Given the description of an element on the screen output the (x, y) to click on. 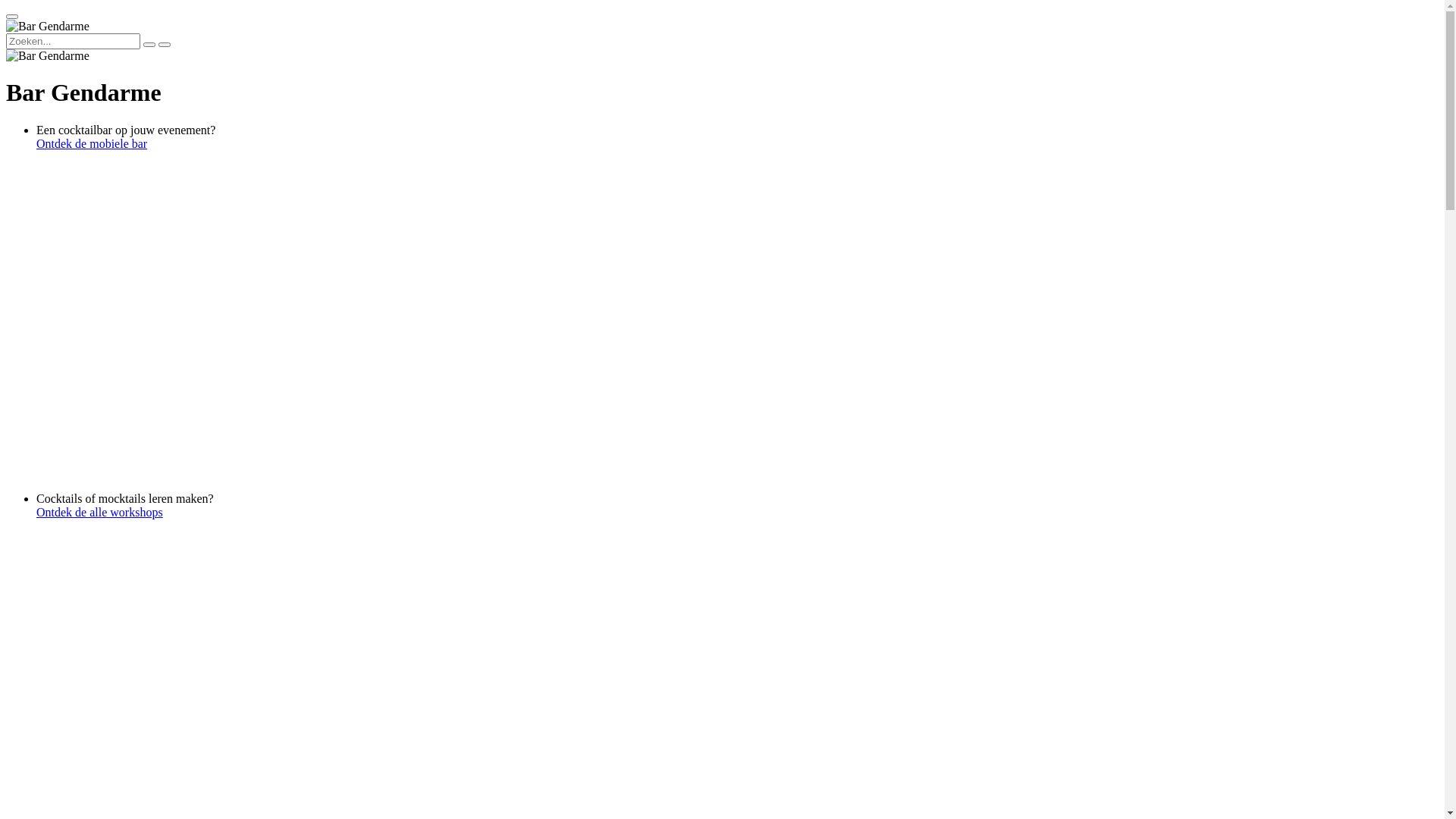
Bar Gendarme Element type: hover (47, 55)
Bar Gendarme Element type: hover (47, 26)
Ontdek de mobiele bar Element type: text (737, 143)
Ontdek de alle workshops Element type: text (737, 512)
